Given the description of an element on the screen output the (x, y) to click on. 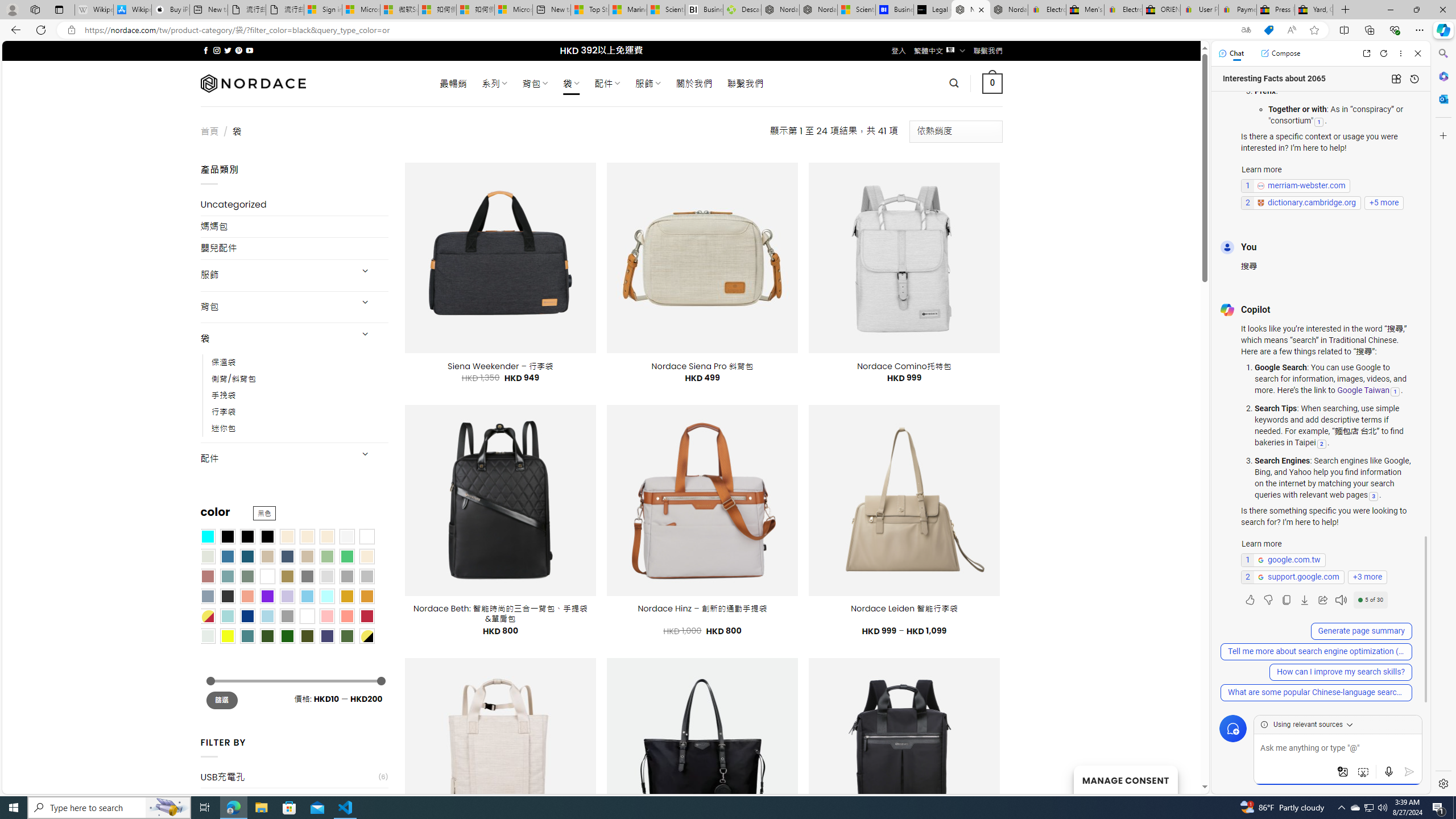
Follow on YouTube (249, 50)
Marine life - MSN (628, 9)
 0  (992, 83)
Buy iPad - Apple (171, 9)
Show translate options (1245, 29)
